Given the description of an element on the screen output the (x, y) to click on. 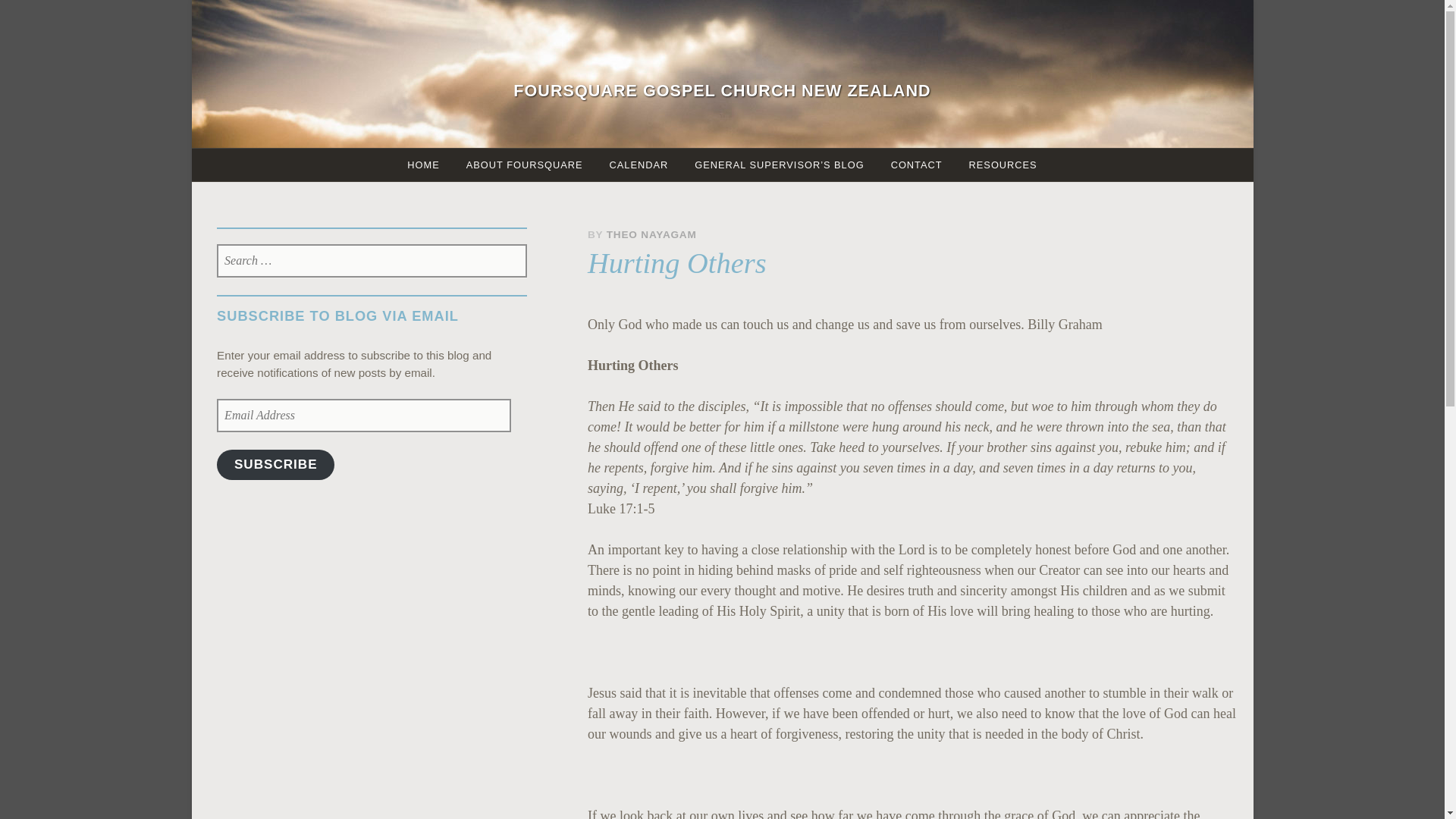
HOME (422, 164)
RESOURCES (1003, 164)
CONTACT (916, 164)
SUBSCRIBE (275, 464)
THEO NAYAGAM (652, 234)
CALENDAR (637, 164)
Search (62, 18)
FOURSQUARE GOSPEL CHURCH NEW ZEALAND (721, 90)
ABOUT FOURSQUARE (524, 164)
Foursquare Gospel Church New Zealand (721, 90)
